Given the description of an element on the screen output the (x, y) to click on. 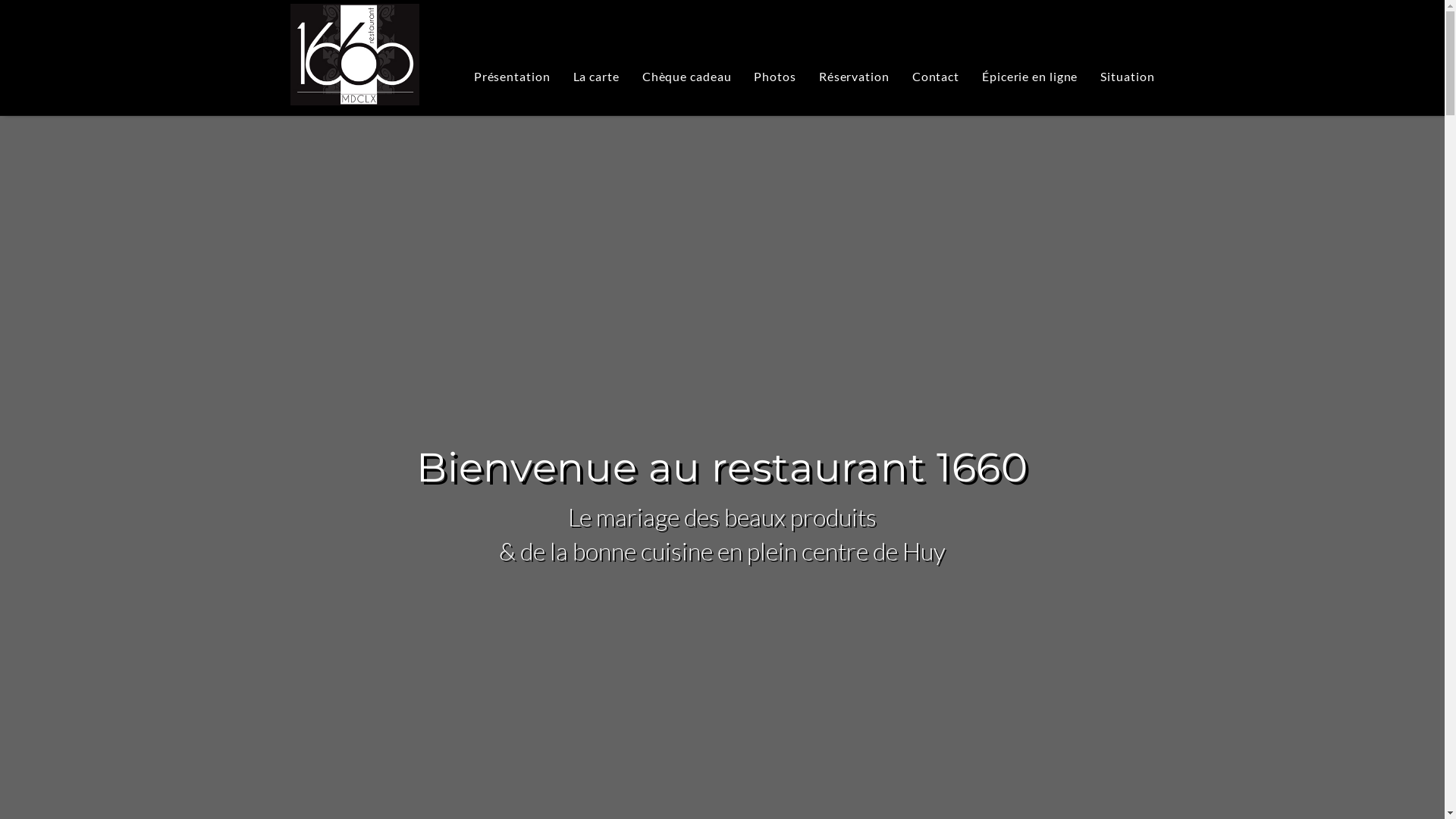
Photos Element type: text (774, 76)
Situation Element type: text (1126, 76)
Contact Element type: text (935, 76)
La carte Element type: text (595, 76)
